Given the description of an element on the screen output the (x, y) to click on. 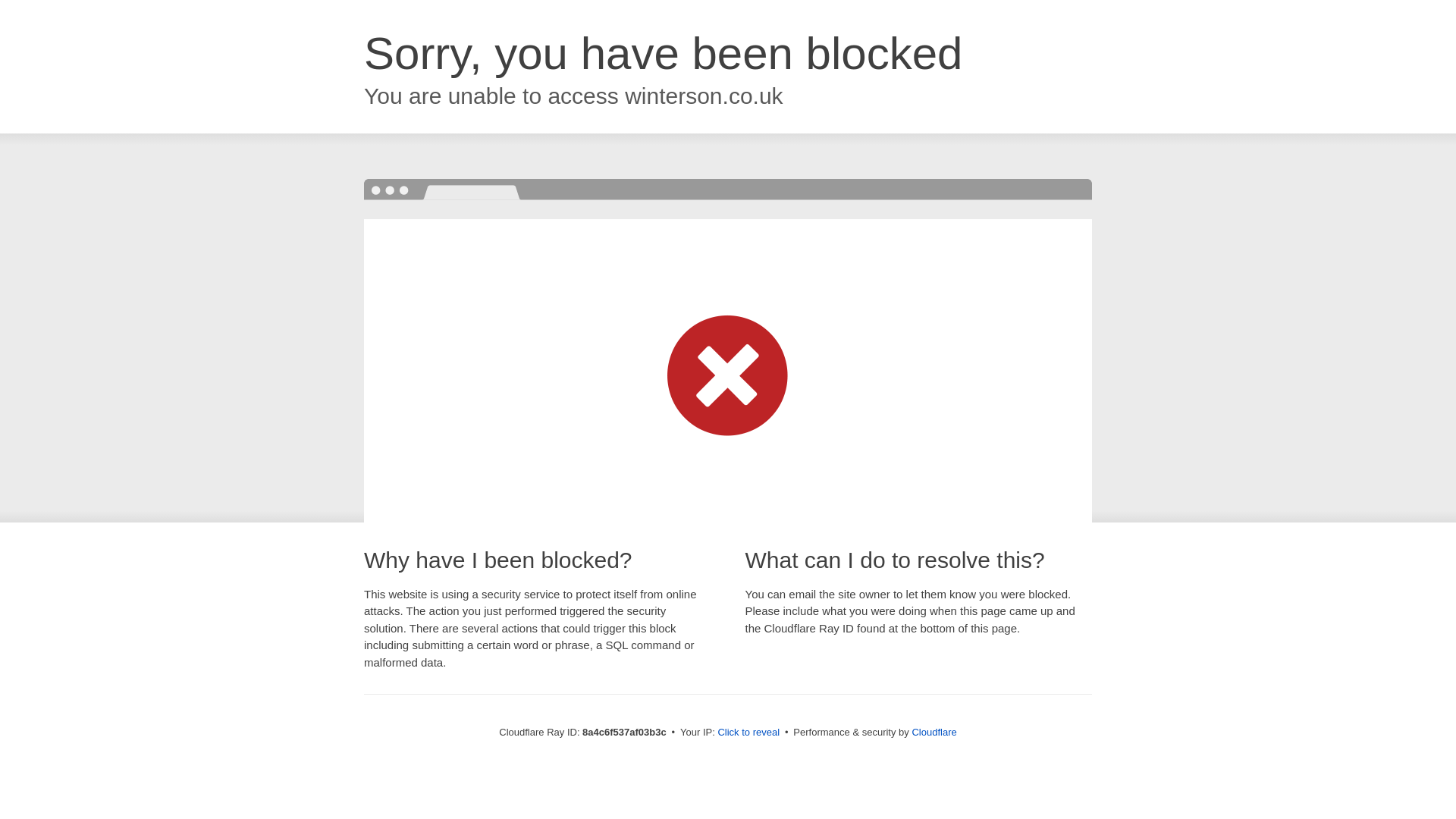
Cloudflare (933, 731)
Click to reveal (747, 732)
